Given the description of an element on the screen output the (x, y) to click on. 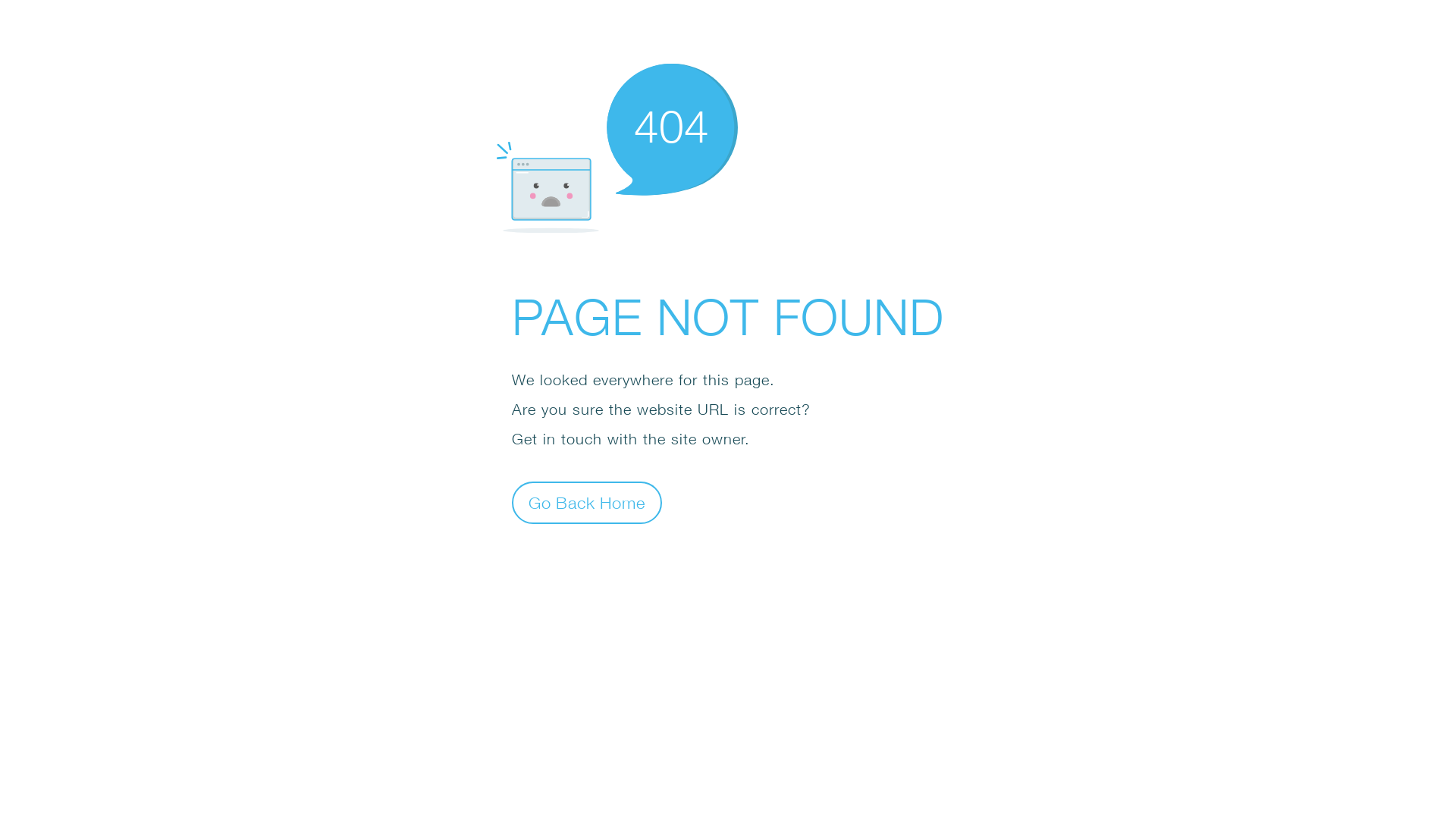
Go Back Home Element type: text (586, 502)
